Given the description of an element on the screen output the (x, y) to click on. 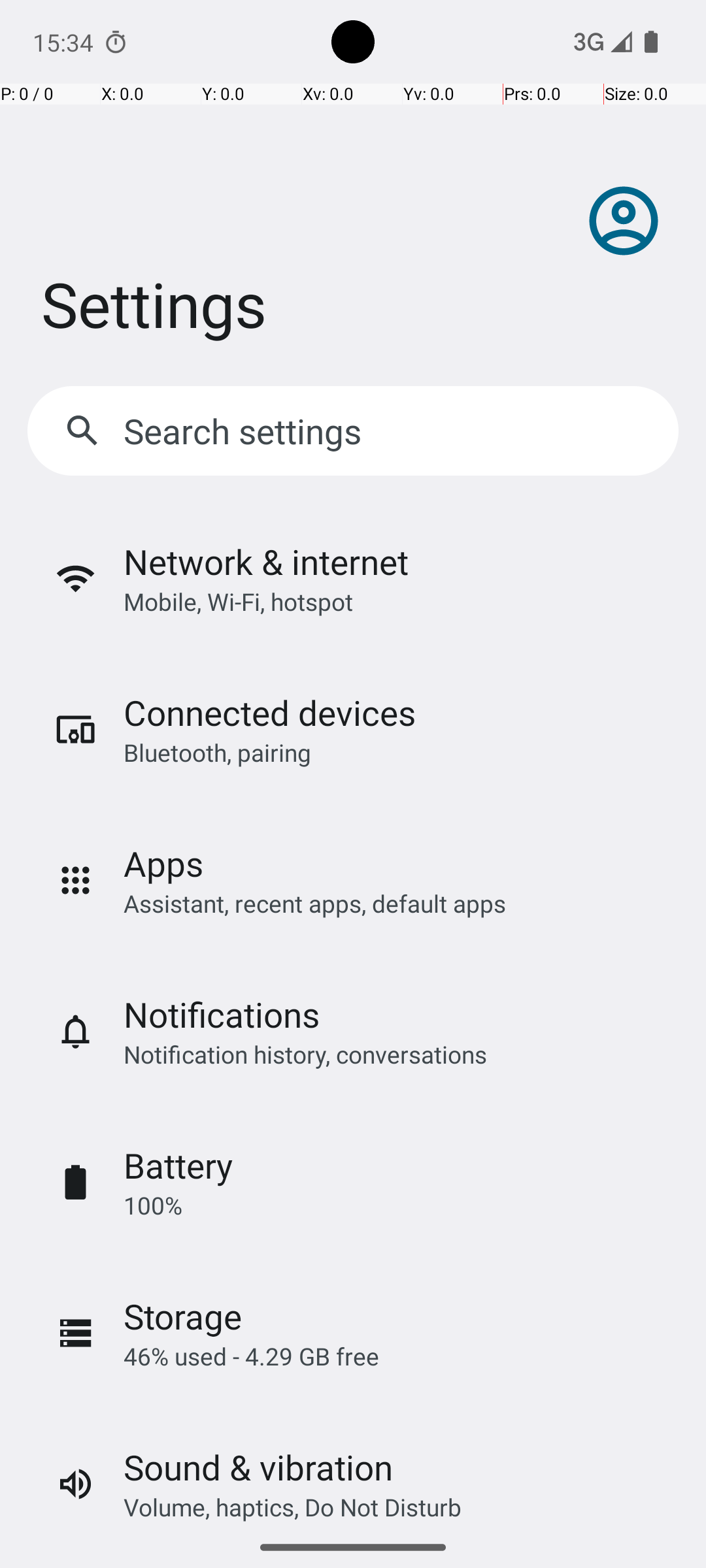
46% used - 4.29 GB free Element type: android.widget.TextView (251, 1355)
